Given the description of an element on the screen output the (x, y) to click on. 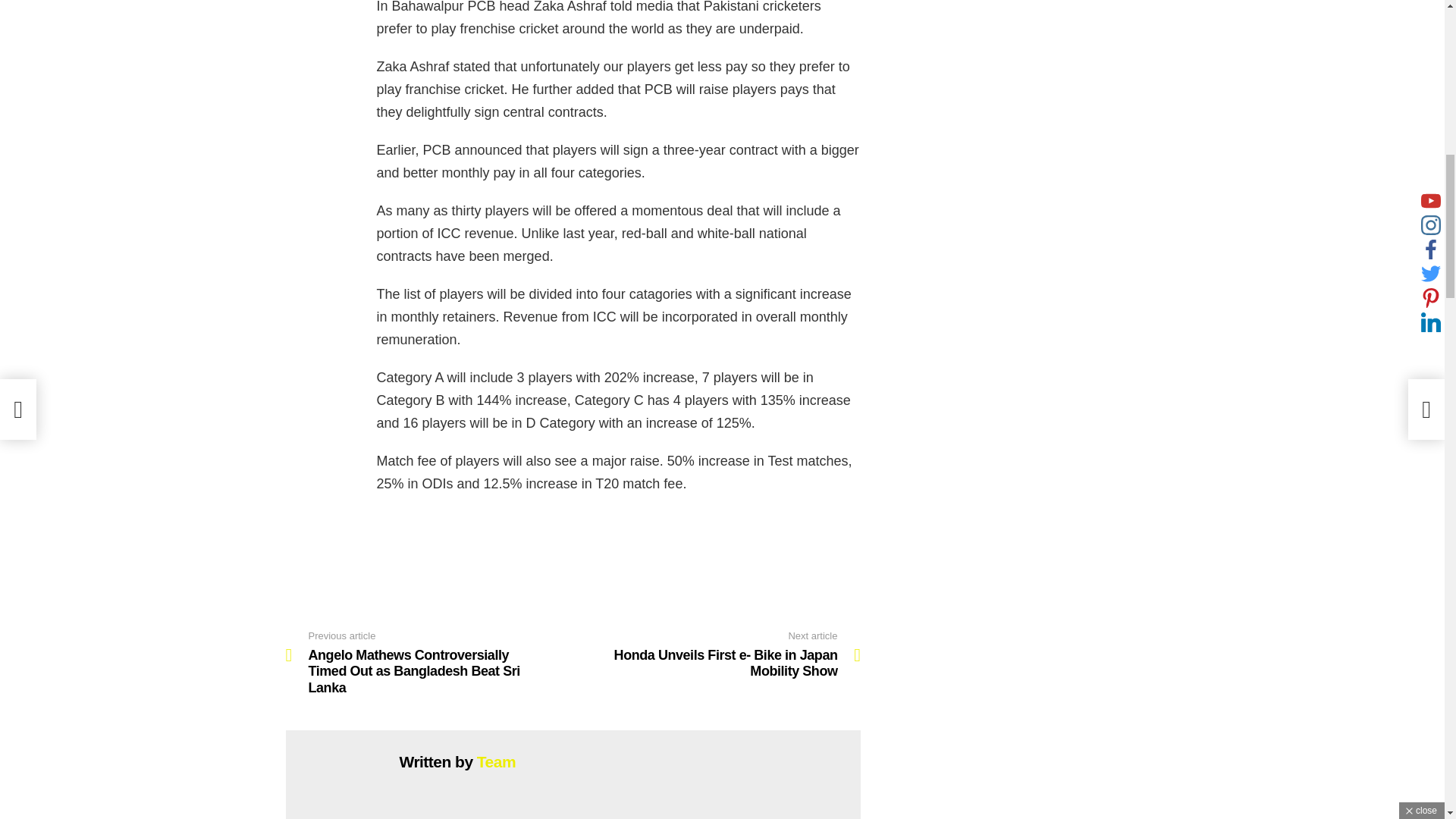
Team (496, 761)
